Given the description of an element on the screen output the (x, y) to click on. 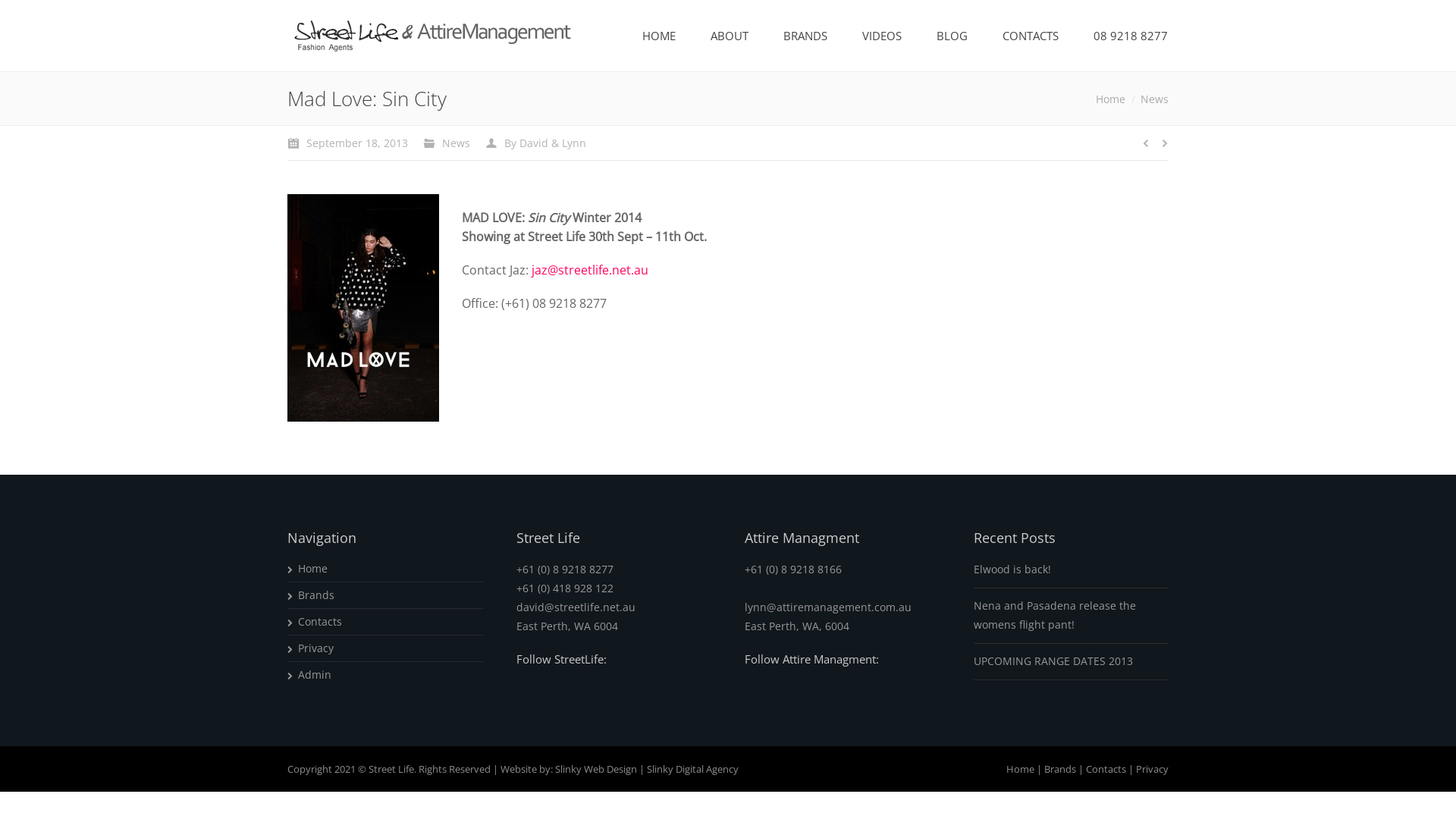
By David & Lynn Element type: text (535, 142)
Nena and Pasadena release the womens flight pant! Element type: text (1071, 614)
Elwood is back! Element type: text (1012, 568)
BRANDS Element type: text (805, 36)
September 18, 2013 Element type: text (347, 142)
Privacy Element type: text (316, 647)
Home Element type: text (312, 568)
Slinky Digital Agency Element type: text (692, 768)
News Element type: text (1154, 98)
News Element type: text (456, 142)
Brands Element type: text (1060, 768)
jaz@streetlife.net.au Element type: text (589, 269)
08 9218 8277 Element type: text (1130, 36)
UPCOMING RANGE DATES 2013 Element type: text (1052, 660)
ABOUT Element type: text (729, 36)
Admin Element type: text (314, 674)
BLOG Element type: text (951, 36)
VIDEOS Element type: text (881, 36)
Brands Element type: text (316, 594)
Home Element type: text (1020, 768)
Home Element type: text (1110, 98)
Contacts Element type: text (1105, 768)
Privacy Element type: text (1151, 768)
HOME Element type: text (658, 36)
Slinky Web Design Element type: text (596, 768)
Contacts Element type: text (320, 621)
CONTACTS Element type: text (1030, 36)
